Given the description of an element on the screen output the (x, y) to click on. 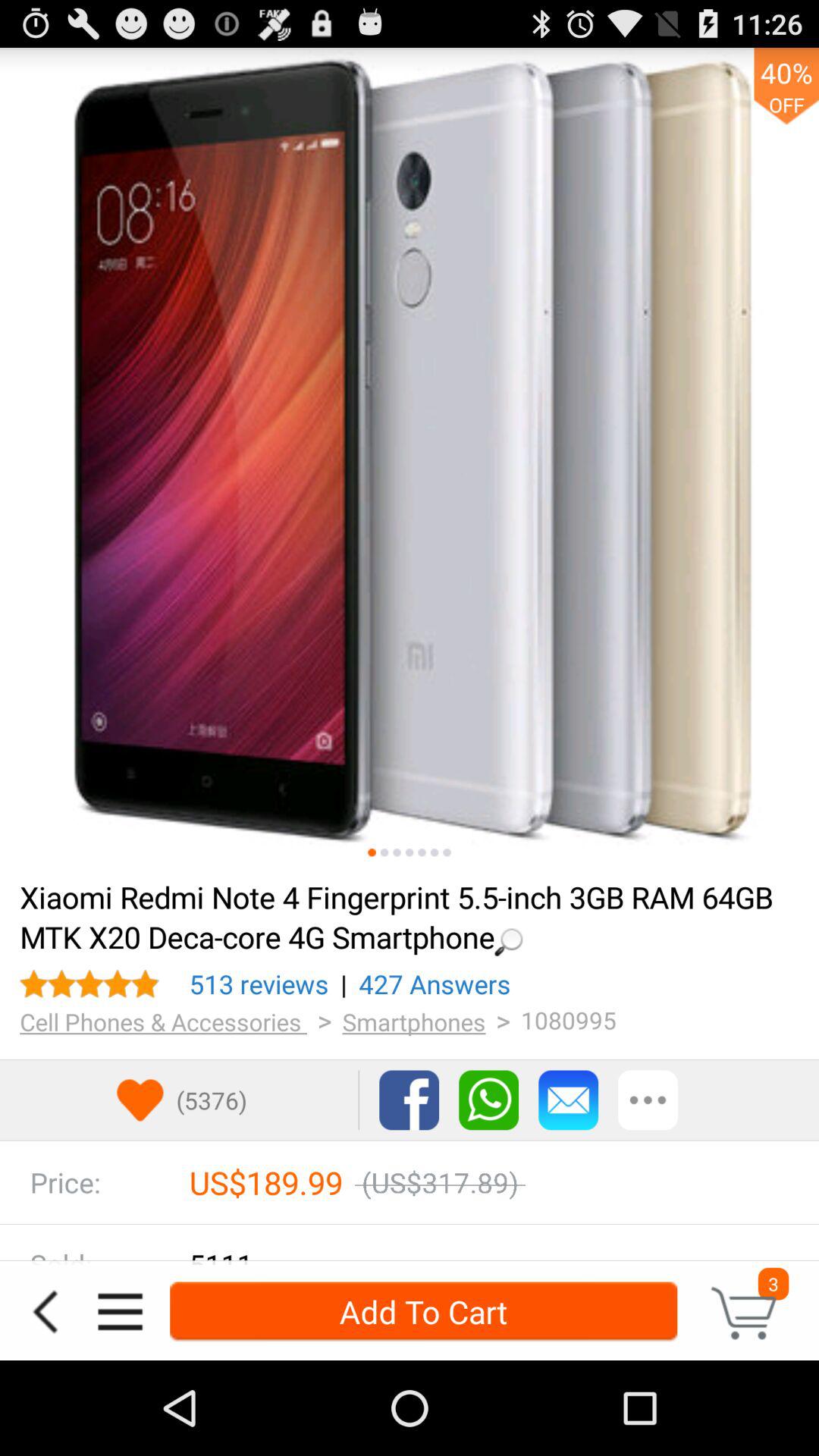
go to picture (434, 852)
